Given the description of an element on the screen output the (x, y) to click on. 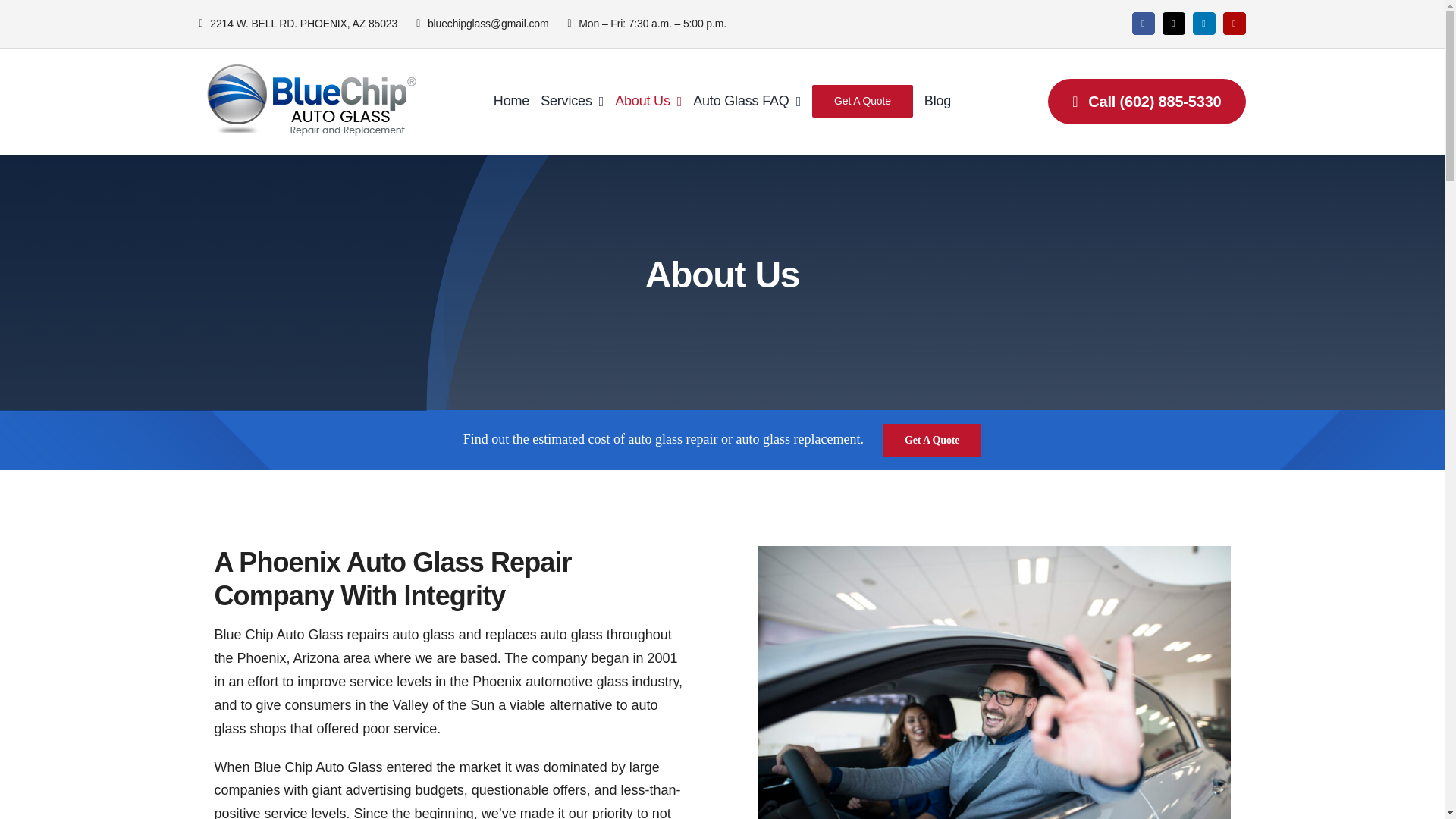
About Us (647, 101)
Services (572, 101)
Get A Quote (862, 101)
Get A Quote (931, 440)
Auto Glass FAQ (746, 101)
2214 W. BELL RD. PHOENIX, AZ 85023 (307, 24)
